Given the description of an element on the screen output the (x, y) to click on. 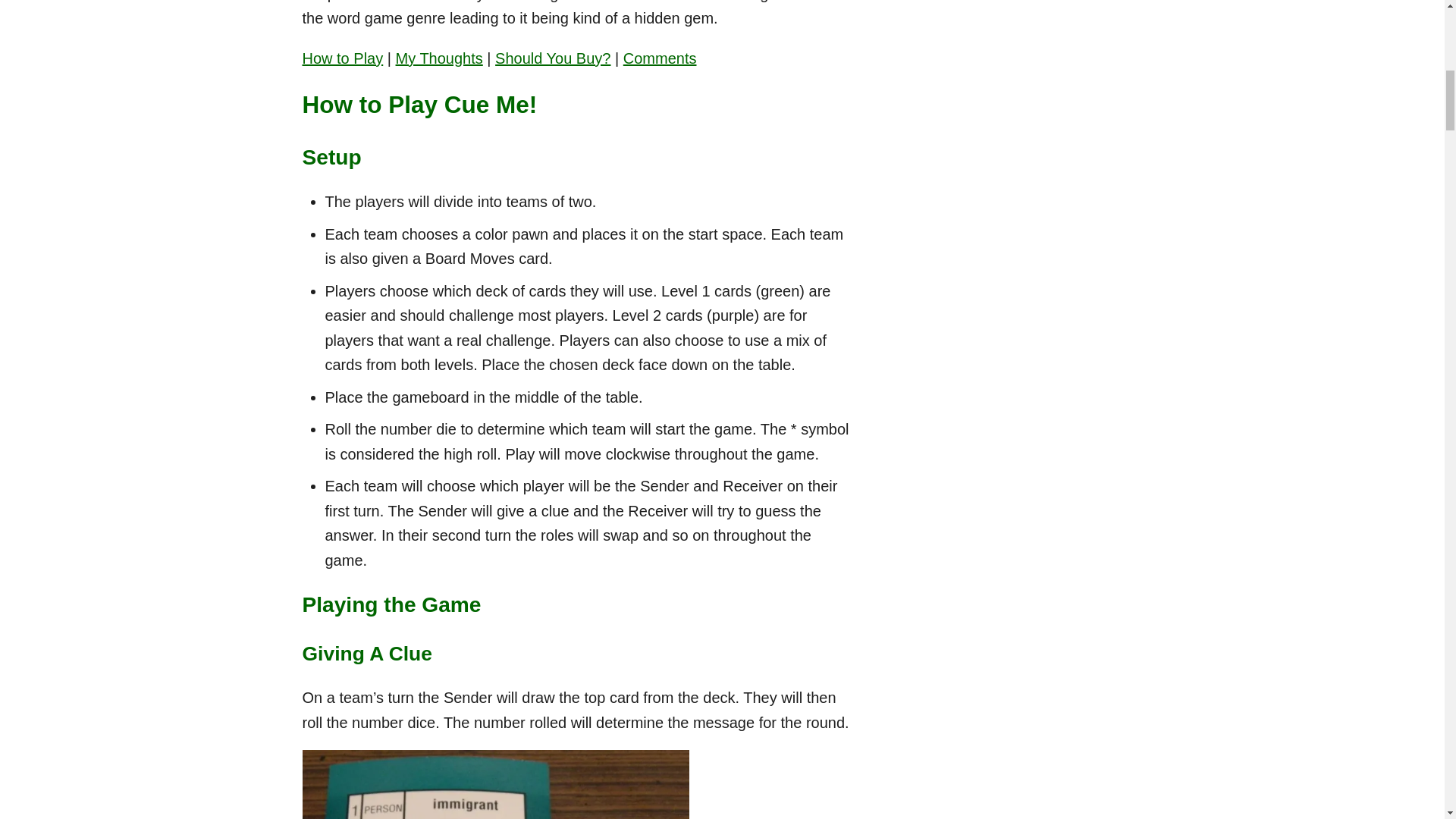
Comments (660, 57)
Should You Buy? (552, 57)
How to Play (341, 57)
My Thoughts (439, 57)
